Given the description of an element on the screen output the (x, y) to click on. 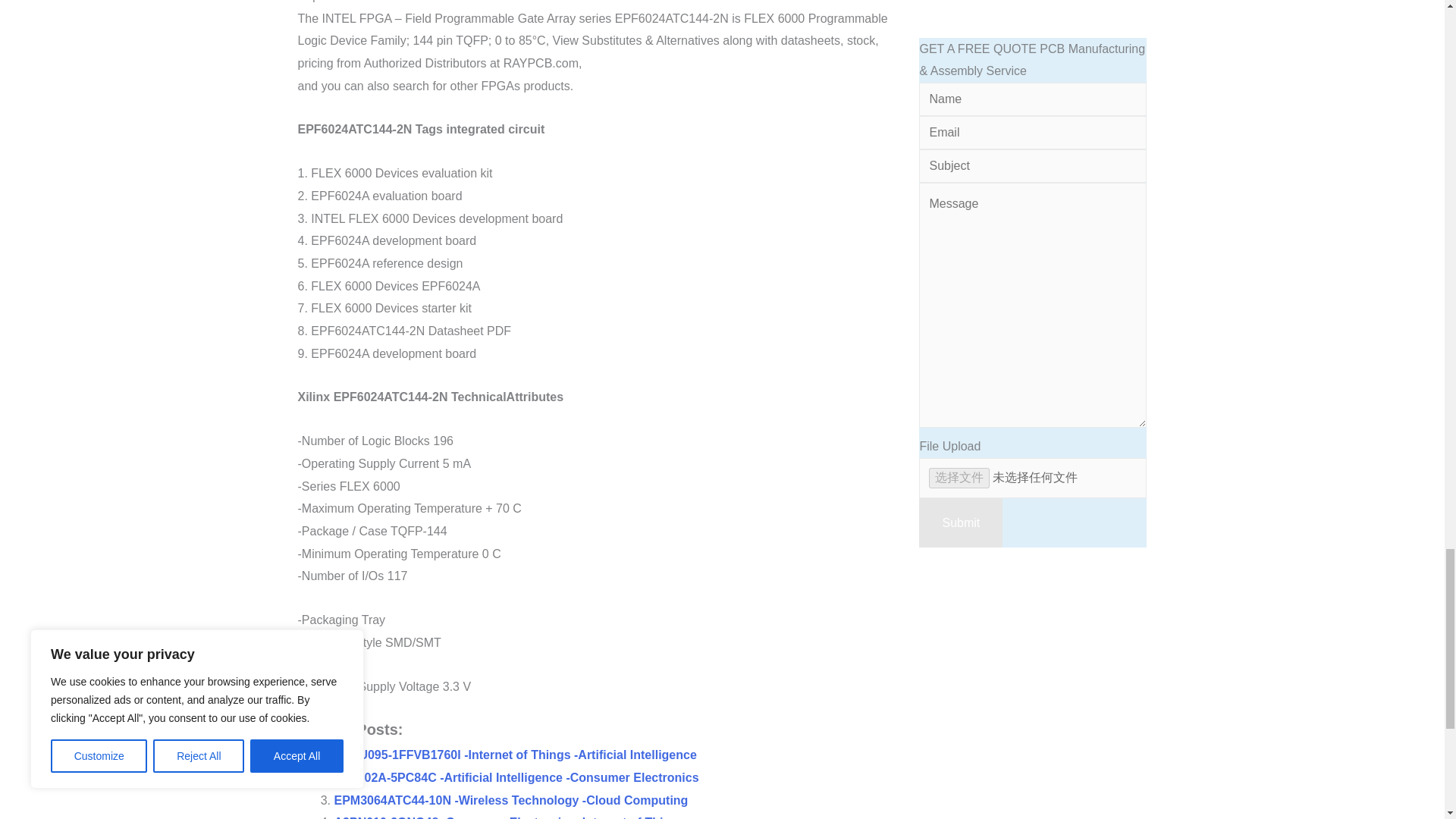
EPM3064ATC44-10N -Wireless Technology -Cloud Computing (510, 799)
